Given the description of an element on the screen output the (x, y) to click on. 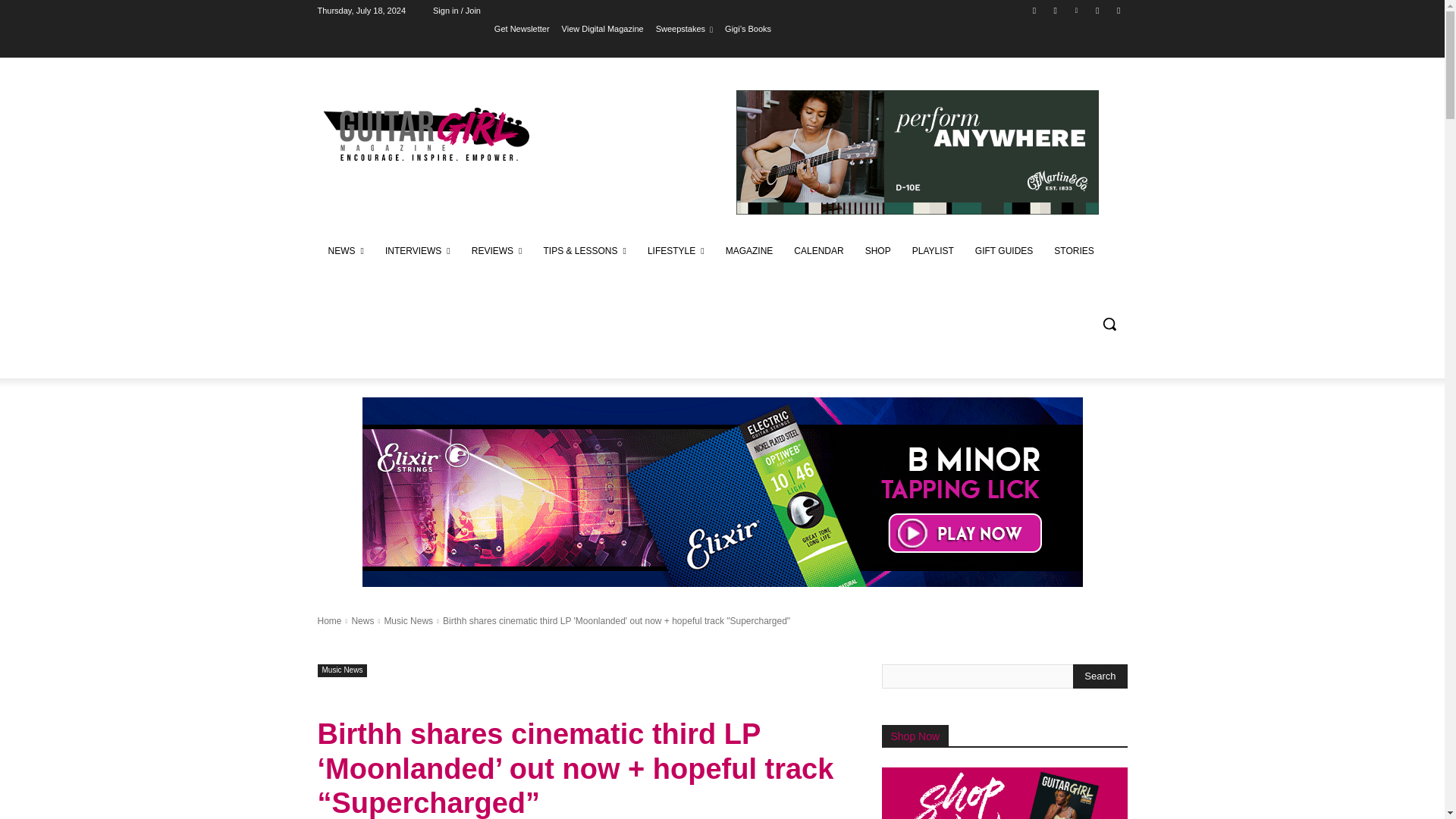
Instagram (1055, 9)
Search (1099, 676)
View all posts in News (362, 620)
Pinterest (1075, 9)
Twitter (1097, 9)
Youtube (1117, 9)
Facebook (1034, 9)
View all posts in Music News (408, 620)
